Given the description of an element on the screen output the (x, y) to click on. 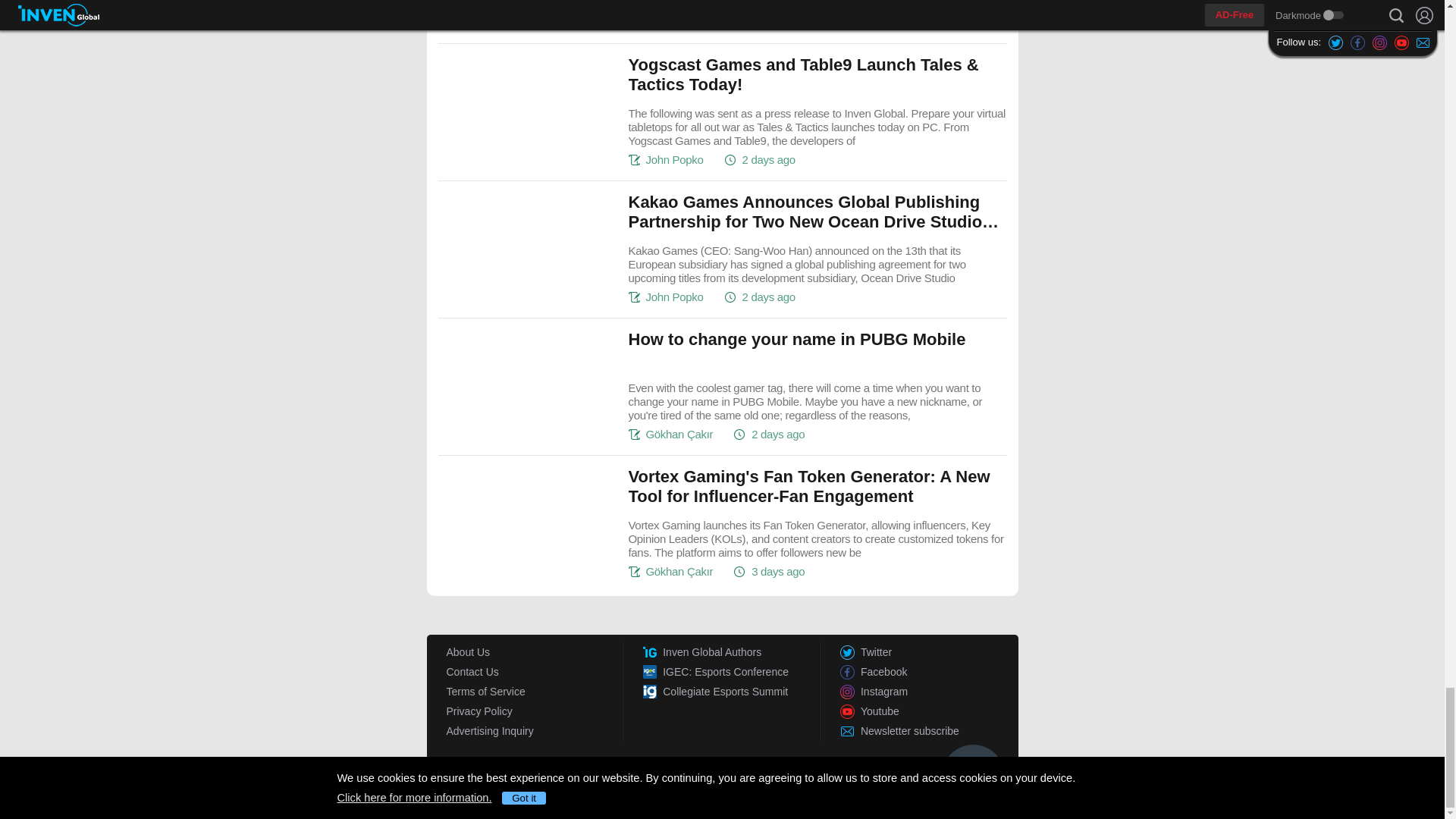
Inven Global Authors (732, 651)
Inven Global Instagram (928, 691)
Inven Global Newsletter (928, 731)
Inven Global Youtube (928, 711)
IGEC: Esports Conference (732, 671)
Inven Global Facebook (928, 671)
Inven Global Twitter (928, 651)
